Given the description of an element on the screen output the (x, y) to click on. 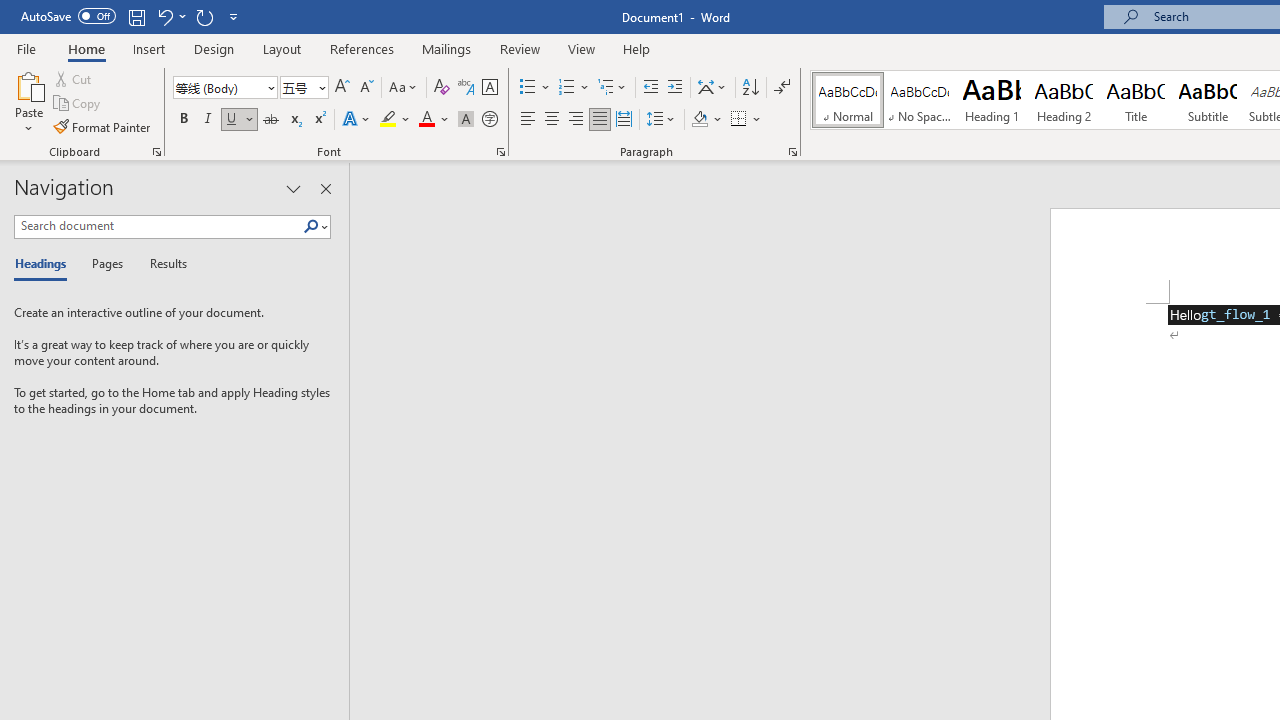
Justify (599, 119)
Character Shading (465, 119)
Subscript (294, 119)
Task Pane Options (293, 188)
Undo Underline Style (170, 15)
Asian Layout (712, 87)
Shrink Font (365, 87)
Clear Formatting (442, 87)
Text Effects and Typography (357, 119)
